Given the description of an element on the screen output the (x, y) to click on. 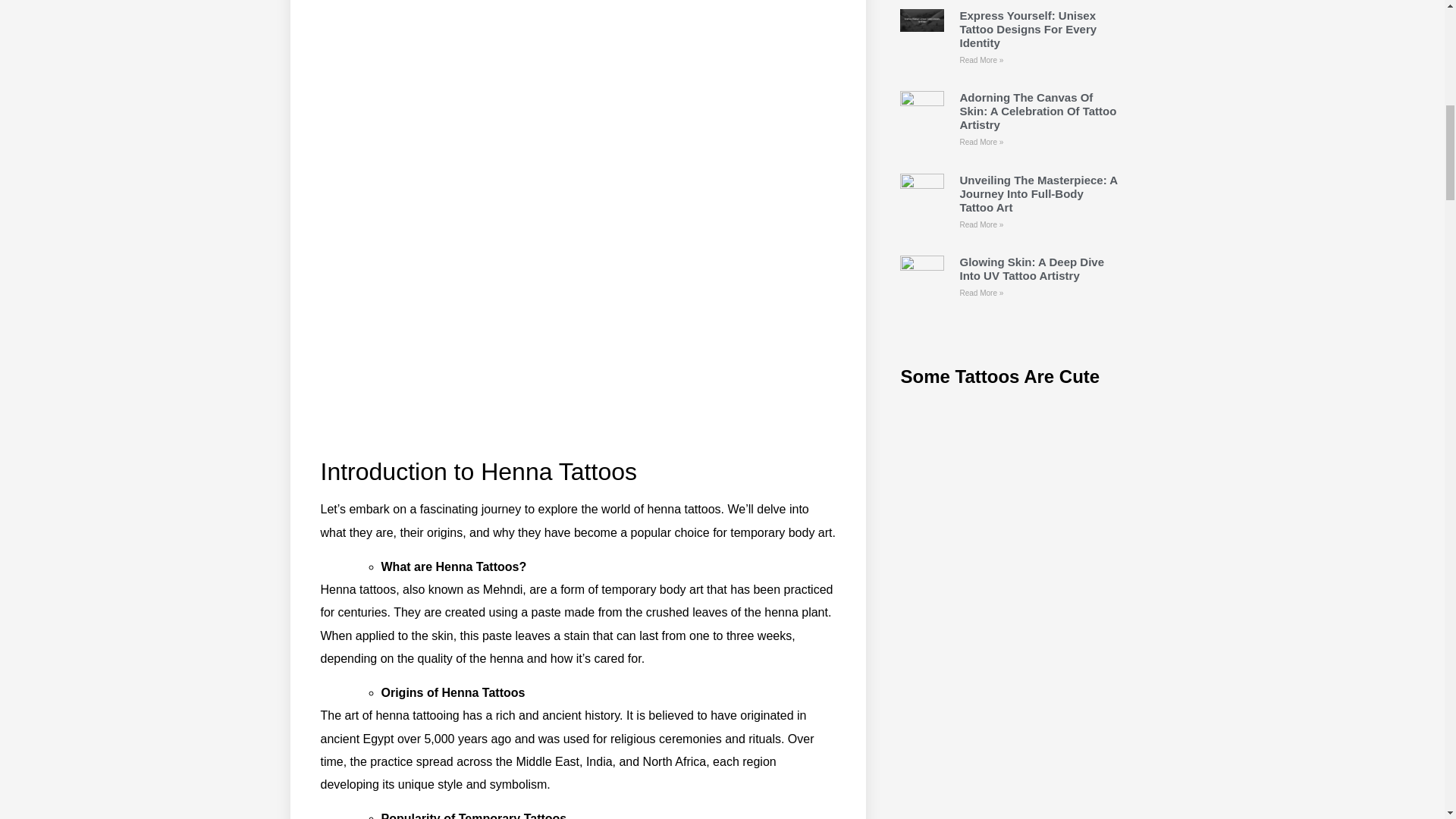
Express Yourself: Unisex Tattoo Designs For Every Identity (1027, 29)
Glowing Skin: A Deep Dive Into UV Tattoo Artistry (1031, 268)
